Given the description of an element on the screen output the (x, y) to click on. 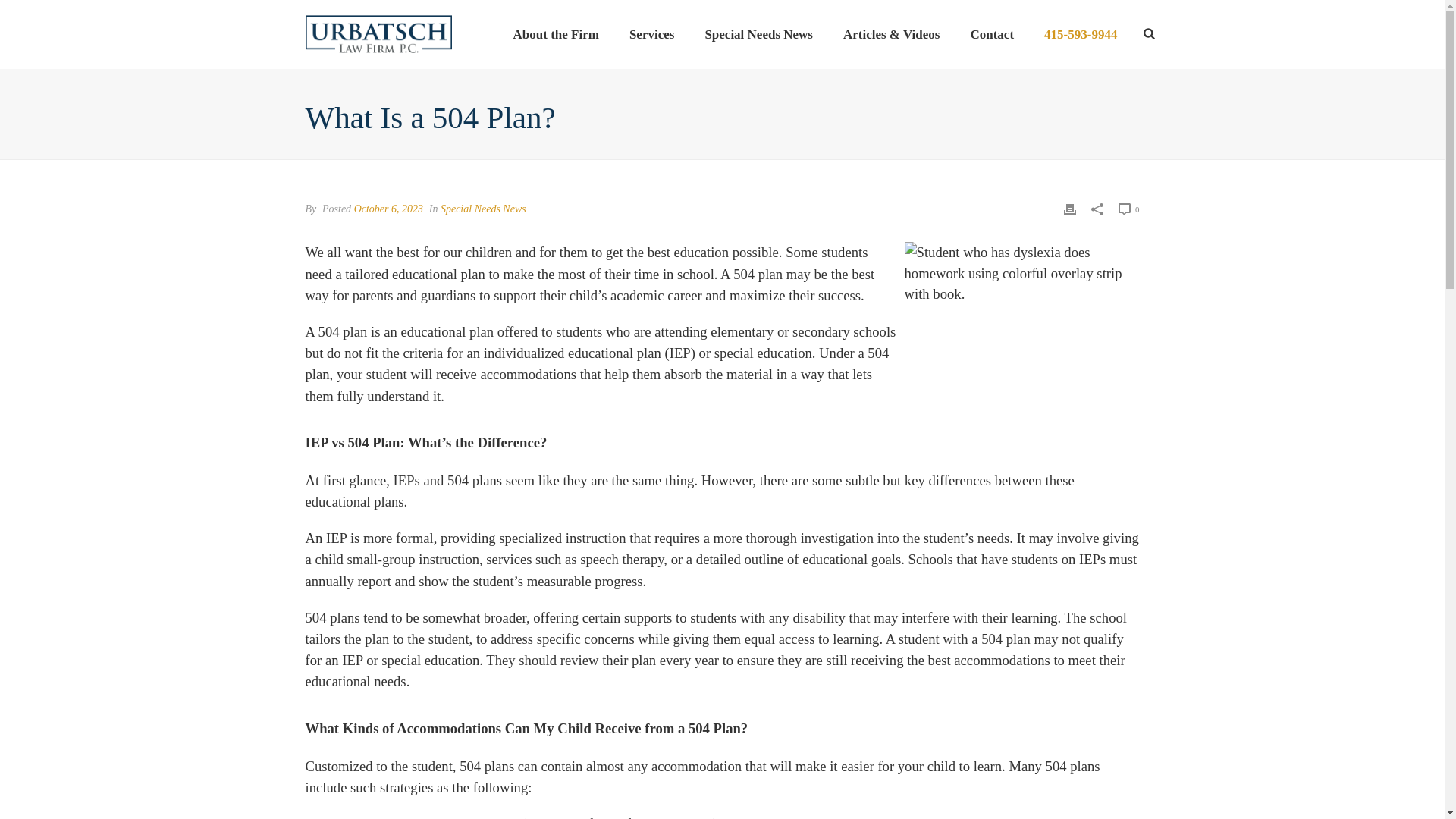
October 6, 2023 (388, 208)
0 (1128, 209)
Elder Law Firm (377, 33)
Special Needs News (483, 208)
Contact (992, 34)
Services (651, 34)
About the Firm (555, 34)
Services (651, 34)
Contact (992, 34)
Special Needs News (758, 34)
